Given the description of an element on the screen output the (x, y) to click on. 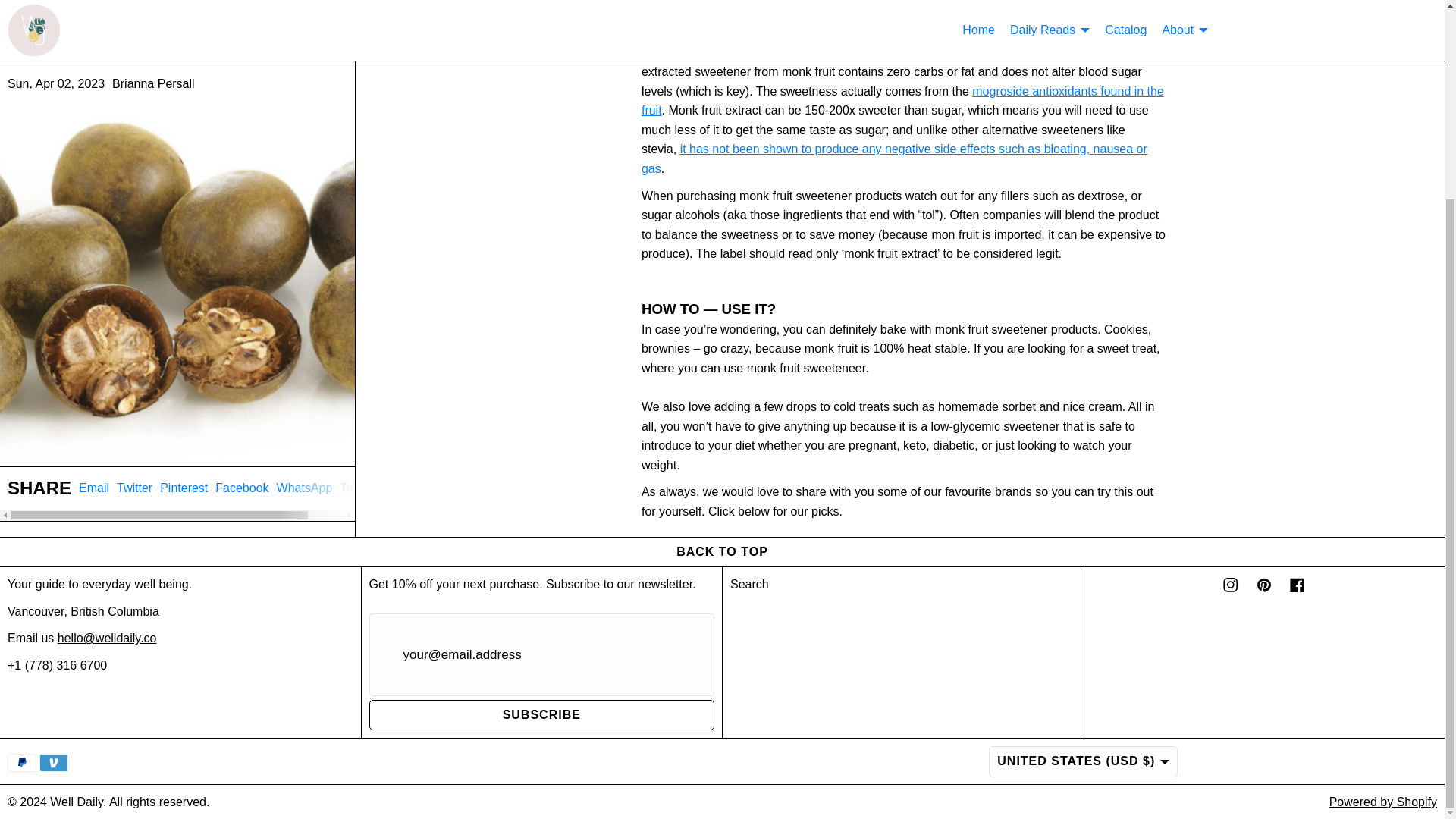
Twitter (134, 439)
Facebook (241, 439)
mogroside antioxidants found in the fruit (177, 445)
Email (902, 101)
Pinterest (93, 439)
ng, (184, 439)
WhatsApp (1083, 148)
Telegram (304, 439)
